Given the description of an element on the screen output the (x, y) to click on. 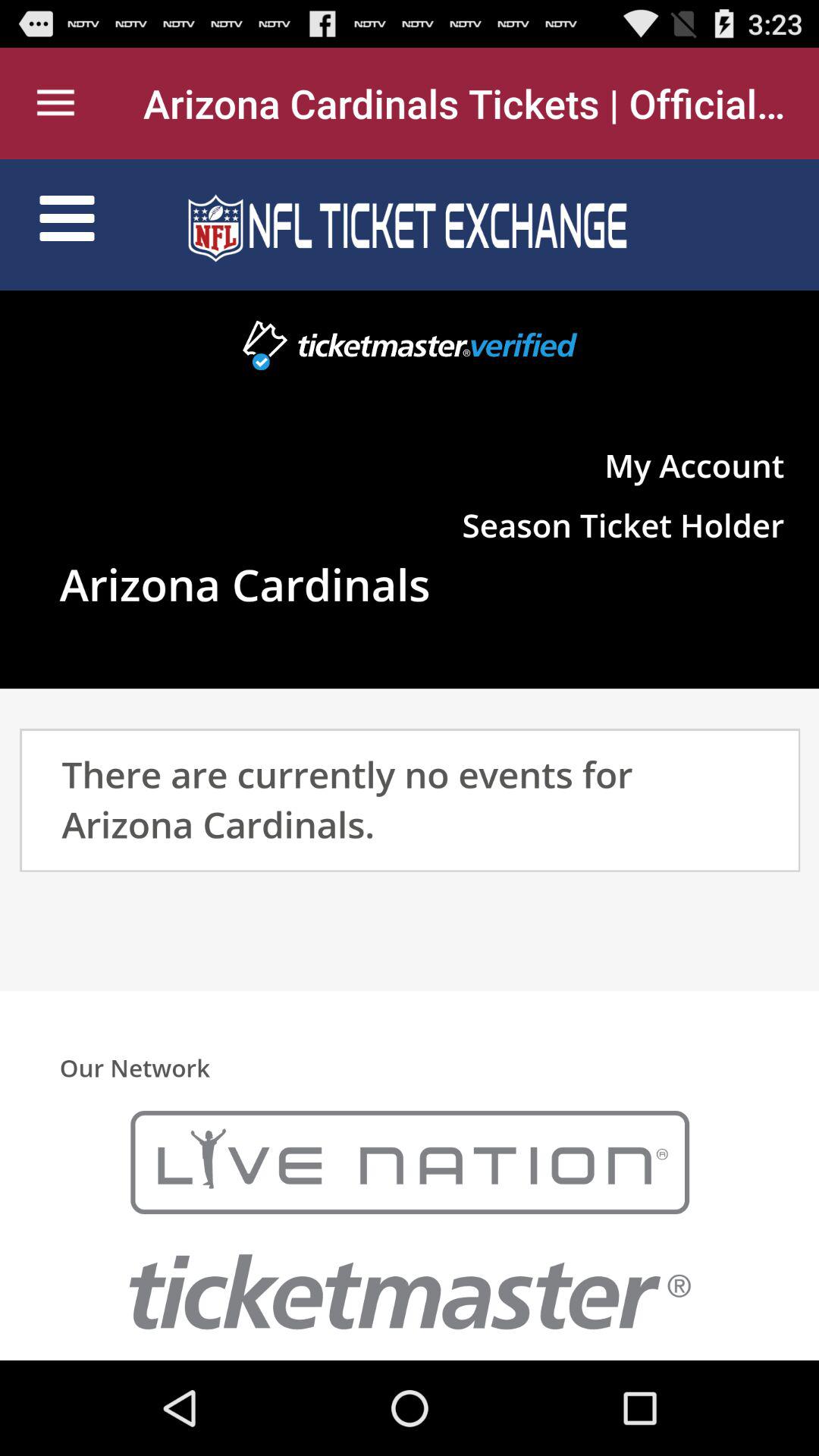
arizona cardinals events (409, 759)
